Given the description of an element on the screen output the (x, y) to click on. 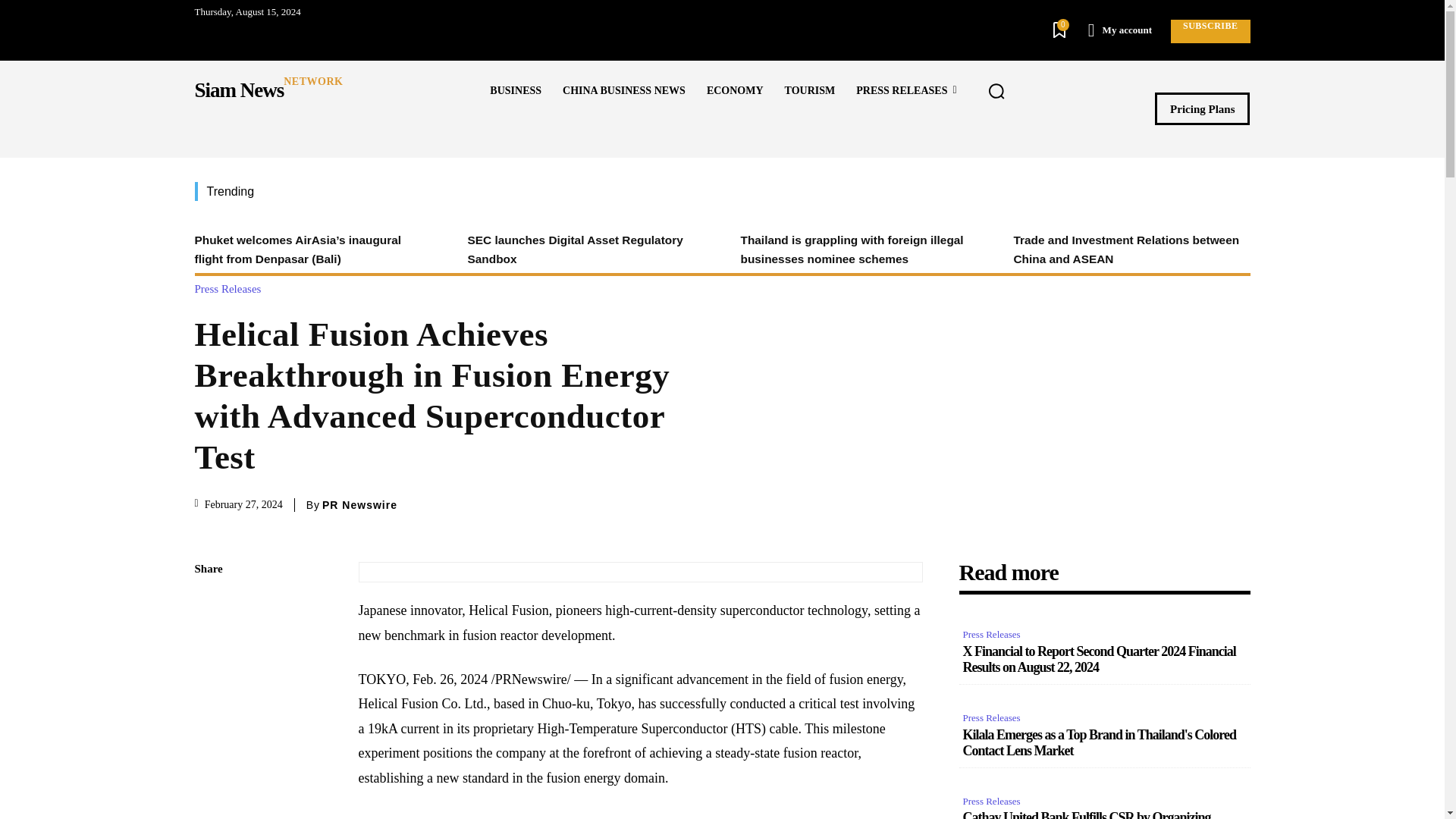
Subscribe (1210, 31)
SUBSCRIBE (1210, 31)
Trade and Investment Relations between China and ASEAN (1126, 249)
SEC launches Digital Asset Regulatory Sandbox (574, 249)
Pricing Plans (1201, 108)
